Given the description of an element on the screen output the (x, y) to click on. 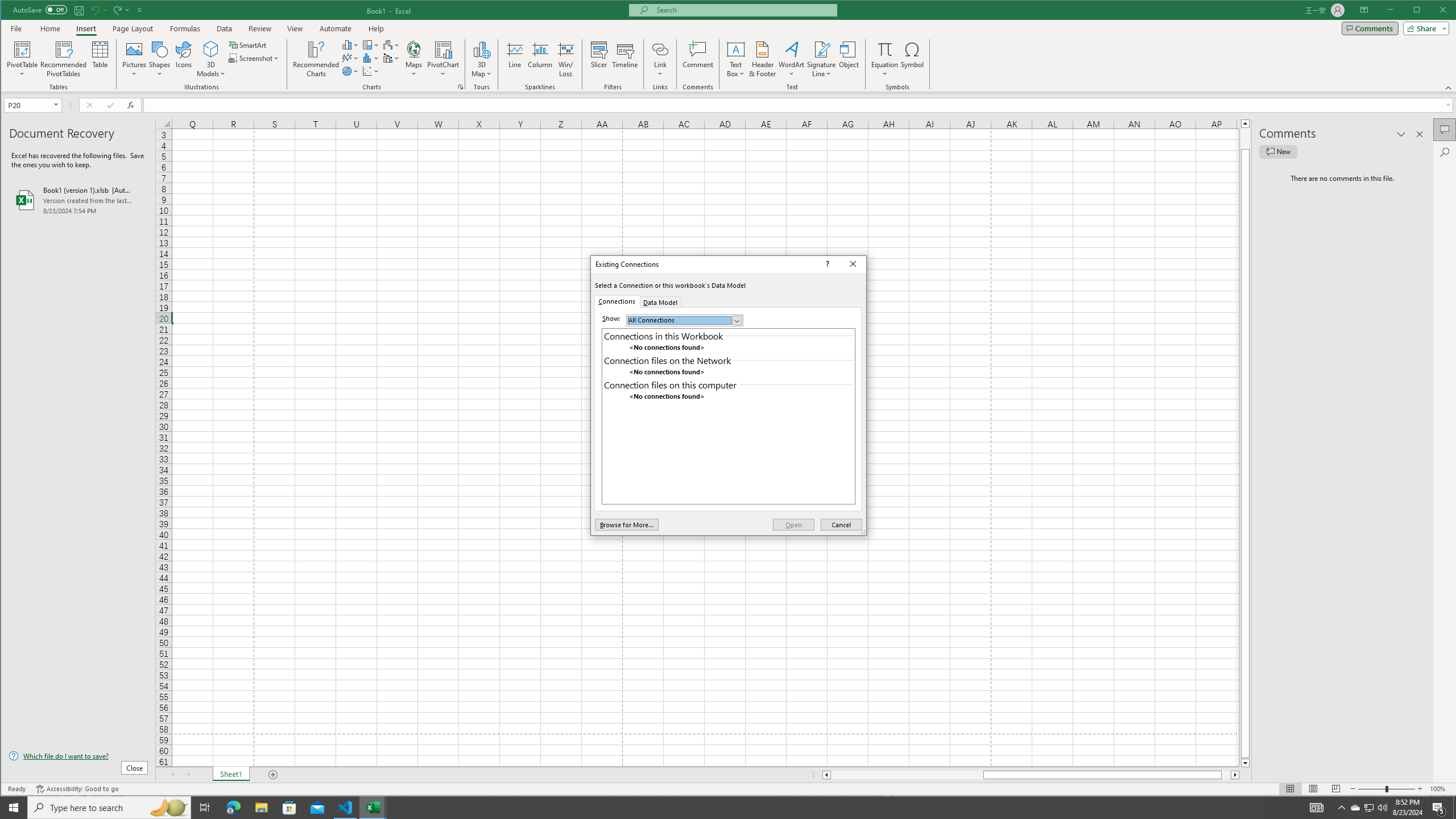
Screenshot (254, 57)
Maps (413, 59)
Page up (1245, 138)
Insert Waterfall, Funnel, Stock, Surface, or Radar Chart (391, 44)
Browse for More... (626, 524)
